Given the description of an element on the screen output the (x, y) to click on. 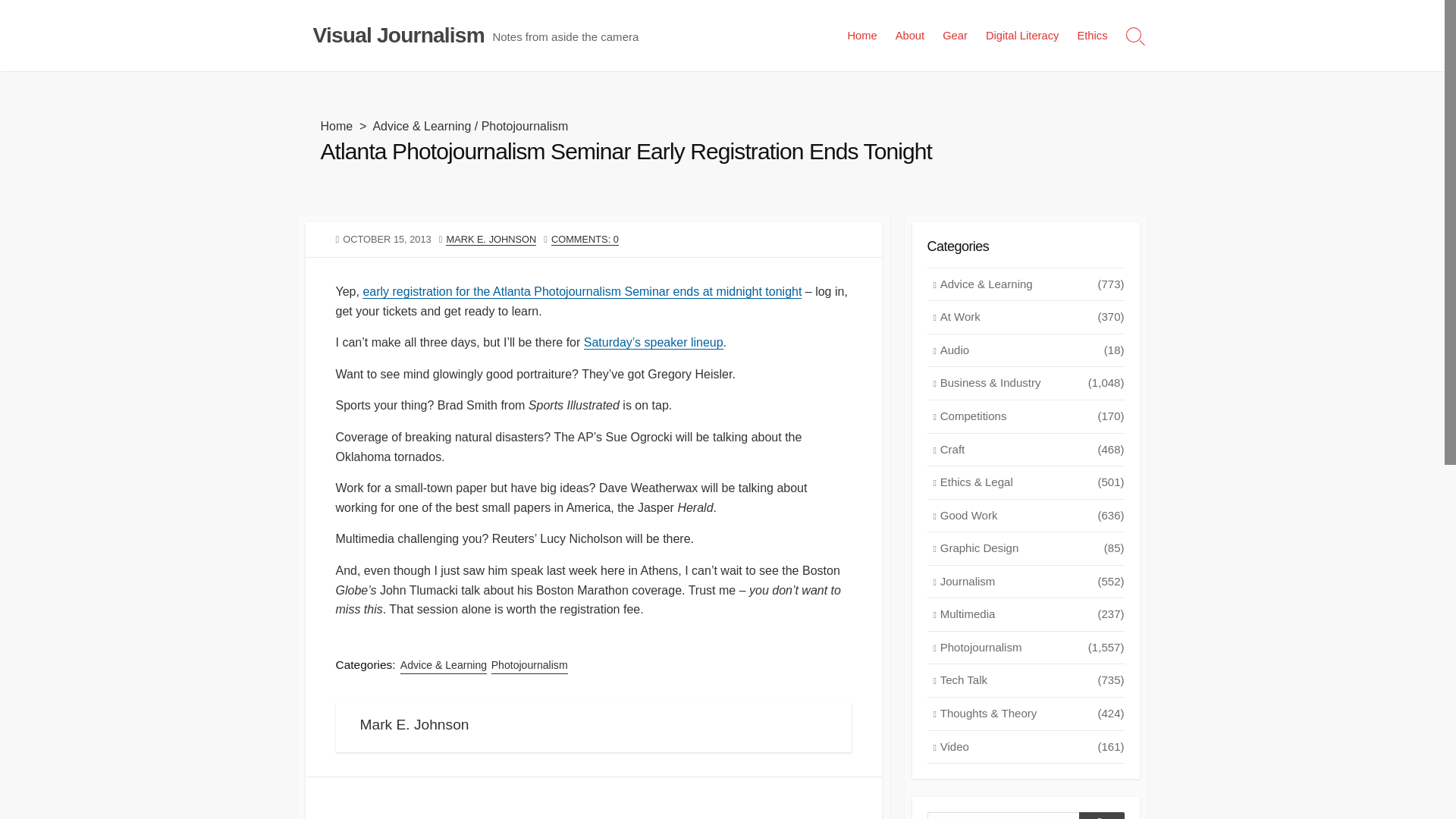
Digital Literacy (1022, 35)
Photojournalism (529, 665)
Home (861, 35)
Gear (954, 35)
Ethics (1091, 35)
Posts by Mark E. Johnson (490, 238)
Search (1101, 815)
Photojournalism (525, 125)
COMMENTS: 0 (584, 238)
